Given the description of an element on the screen output the (x, y) to click on. 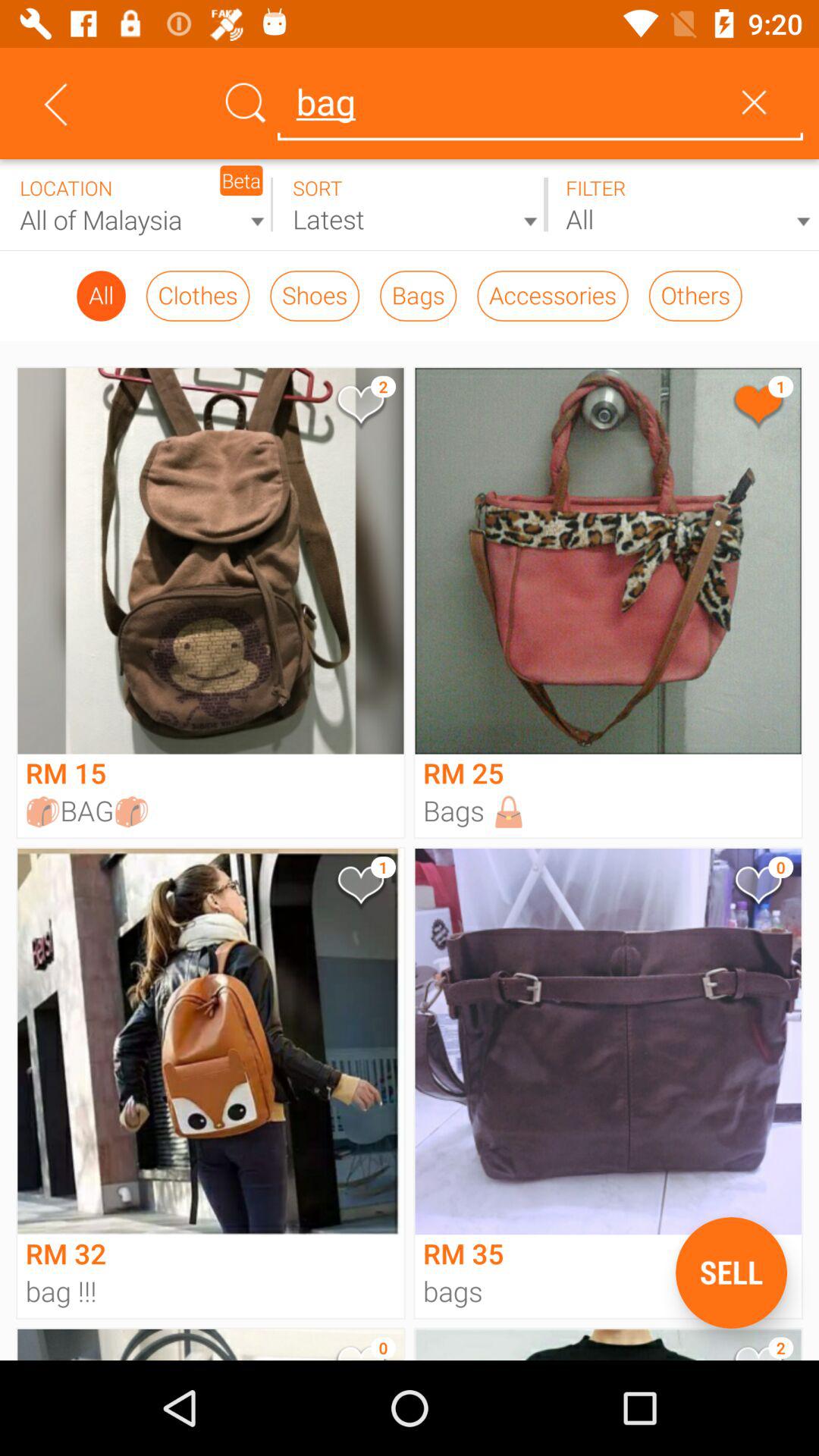
limit search results by location (136, 204)
